Given the description of an element on the screen output the (x, y) to click on. 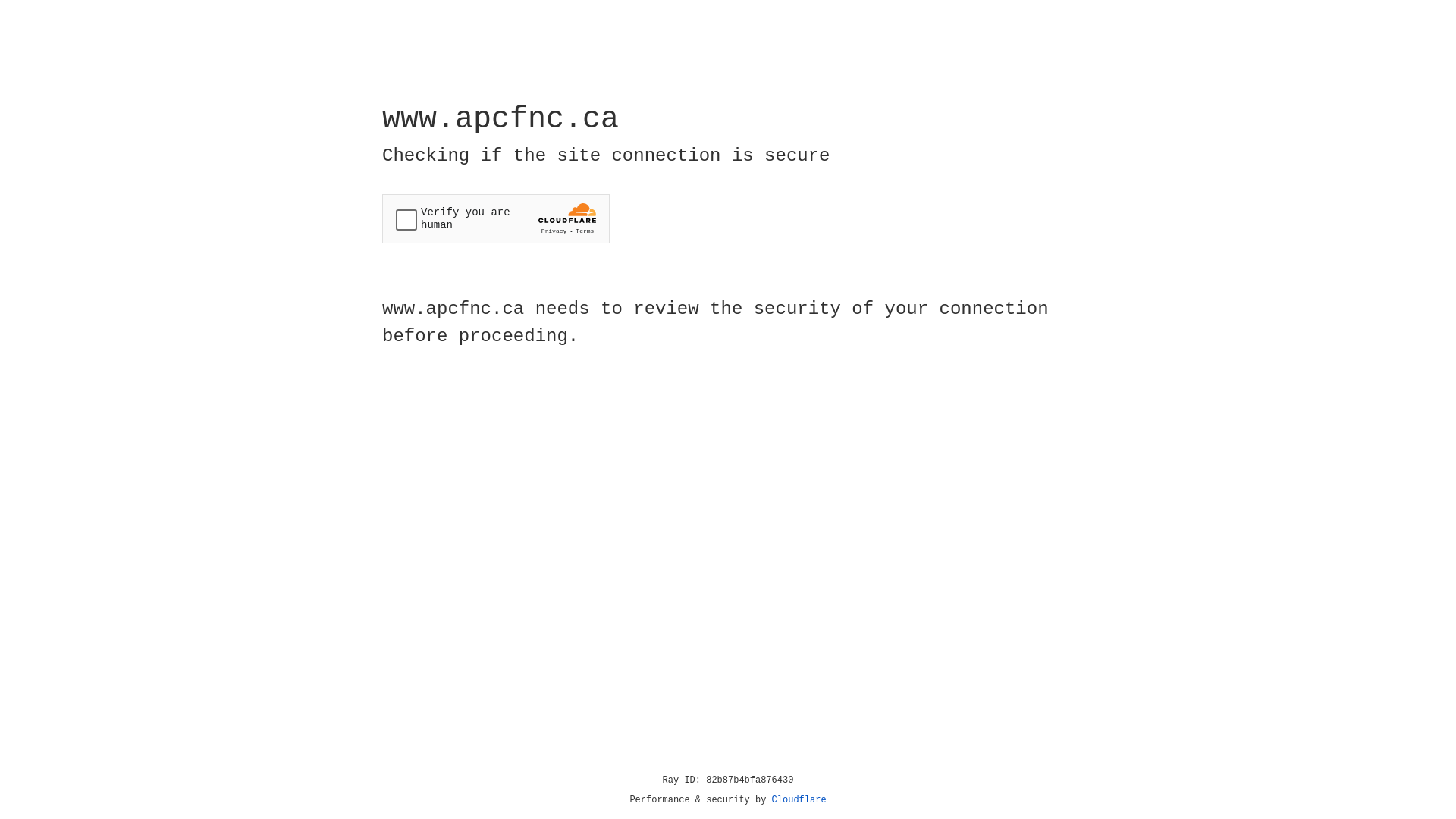
Widget containing a Cloudflare security challenge Element type: hover (495, 218)
Cloudflare Element type: text (798, 799)
